Given the description of an element on the screen output the (x, y) to click on. 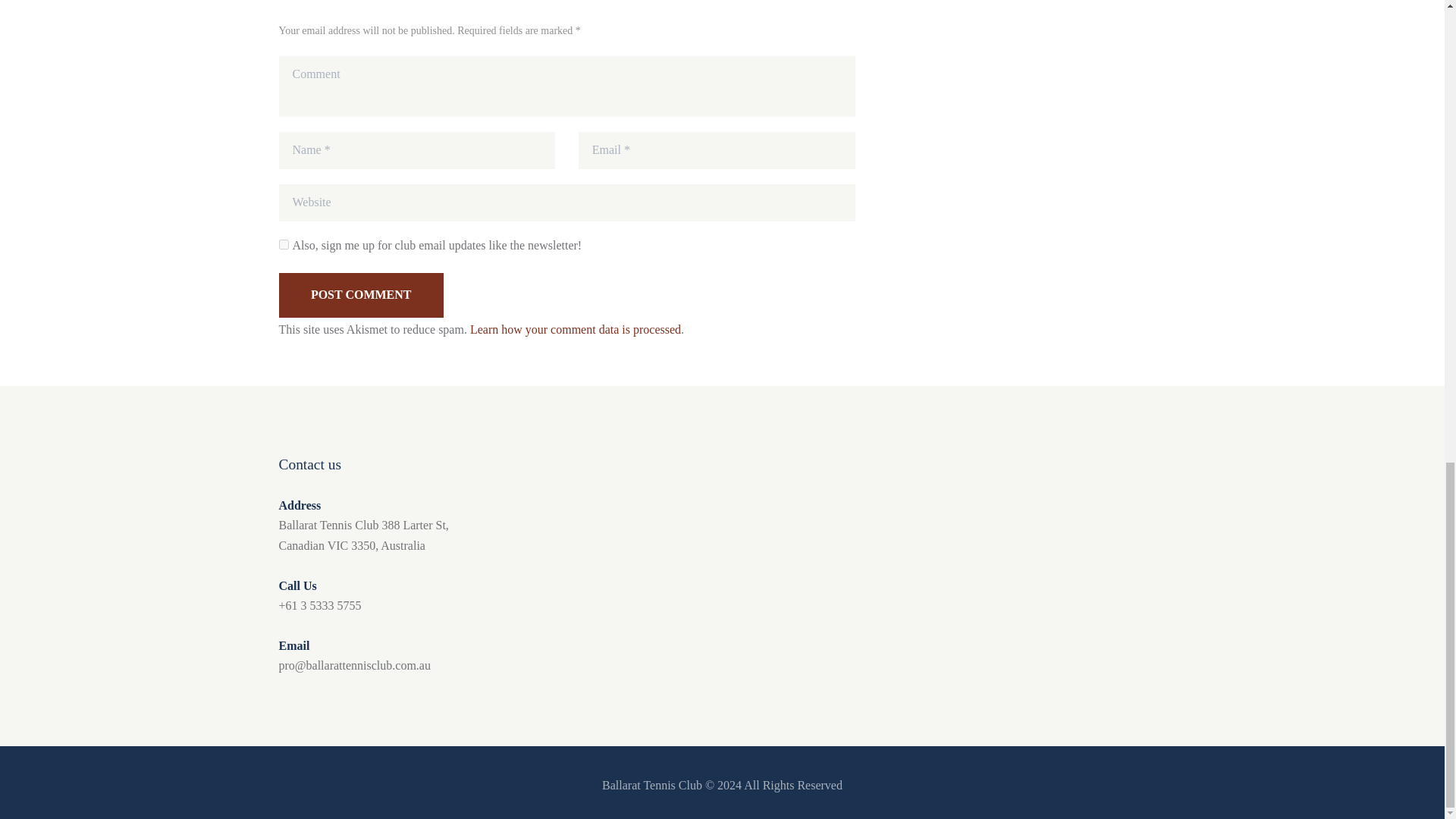
Post Comment (361, 294)
Post Comment (361, 294)
1 (283, 244)
Learn how your comment data is processed (575, 328)
